Given the description of an element on the screen output the (x, y) to click on. 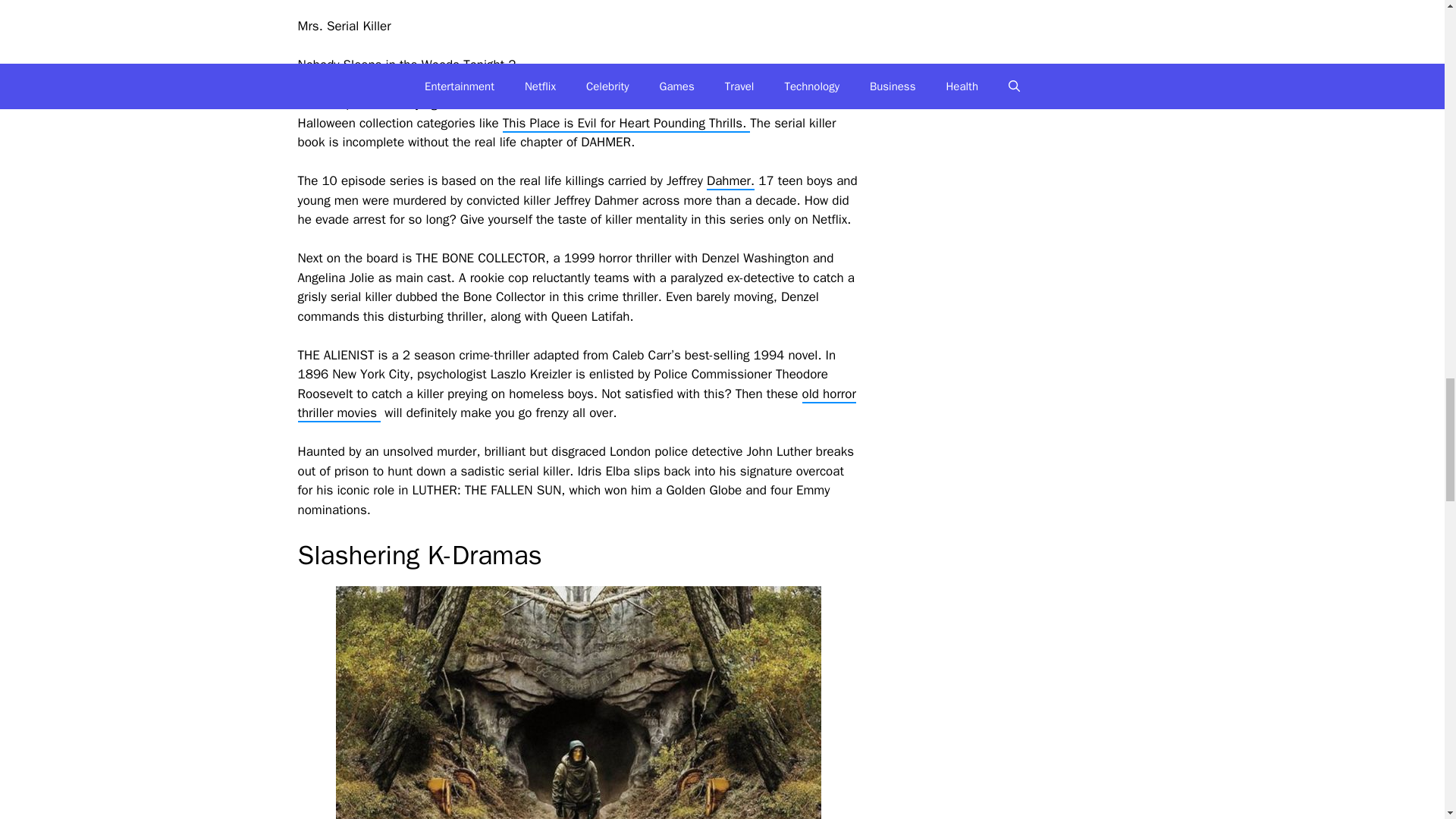
Dahmer. (730, 181)
old horror thriller movies (576, 404)
This Place is Evil for Heart Pounding Thrills. (626, 123)
